Given the description of an element on the screen output the (x, y) to click on. 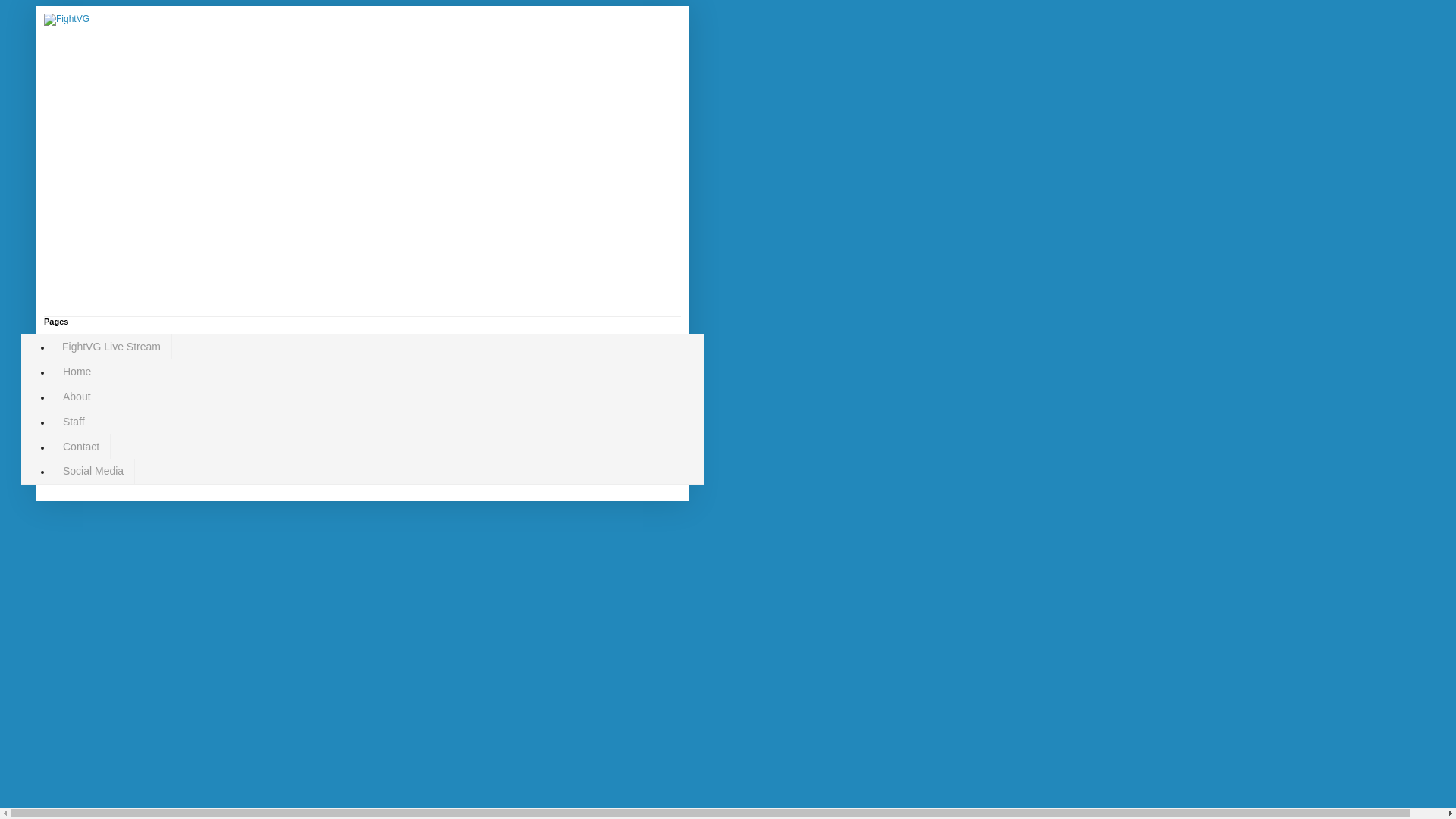
Contact (80, 446)
Social Media (92, 471)
About (75, 396)
FightVG Live Stream (110, 346)
Home (75, 371)
Staff (73, 421)
